Given the description of an element on the screen output the (x, y) to click on. 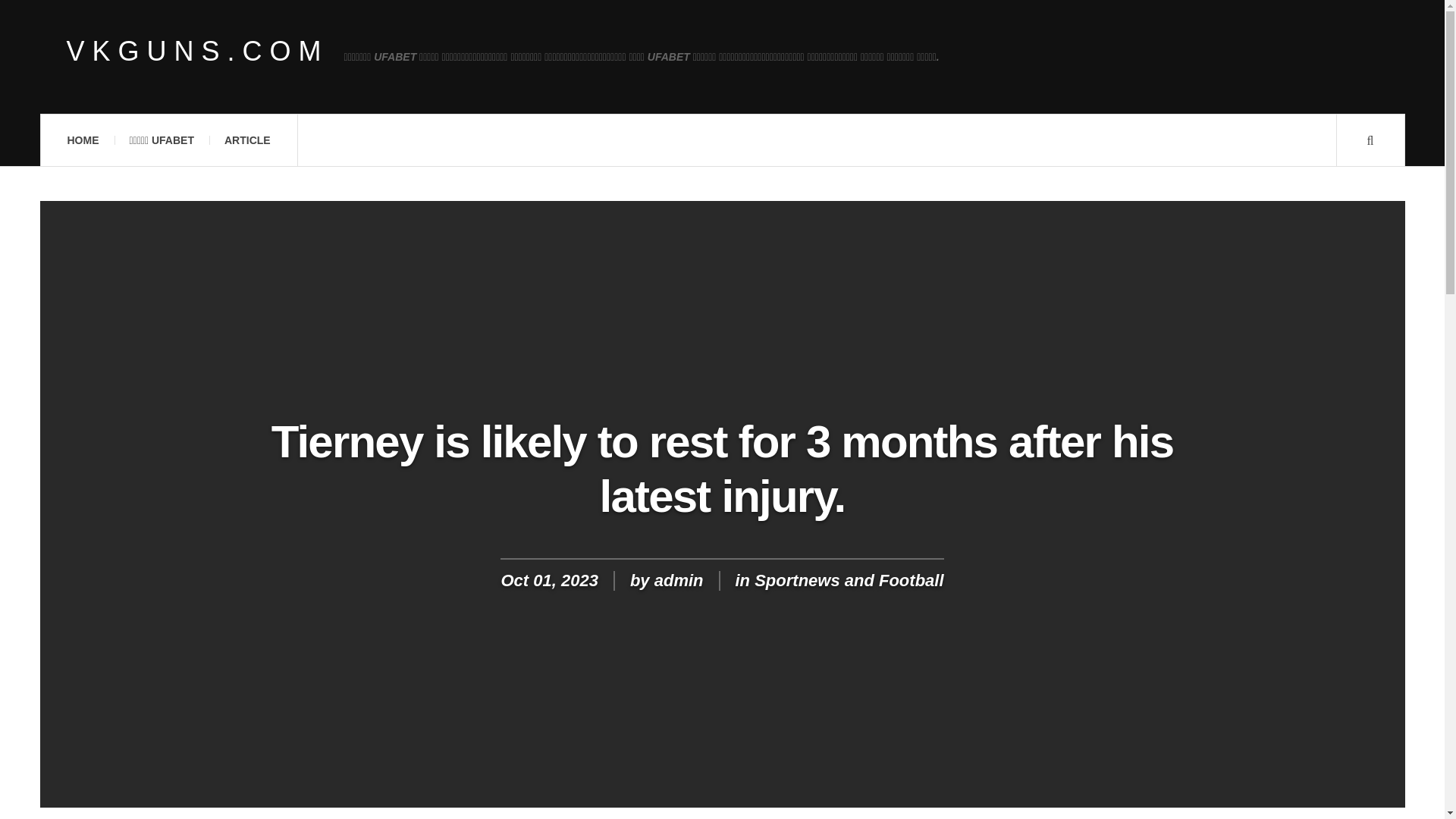
View all posts in Sportnews and Football (848, 579)
VKGUNS.COM (197, 51)
admin (678, 579)
Sportnews and Football (848, 579)
ARTICLE (247, 140)
HOME (81, 140)
vkguns.com (197, 51)
